Given the description of an element on the screen output the (x, y) to click on. 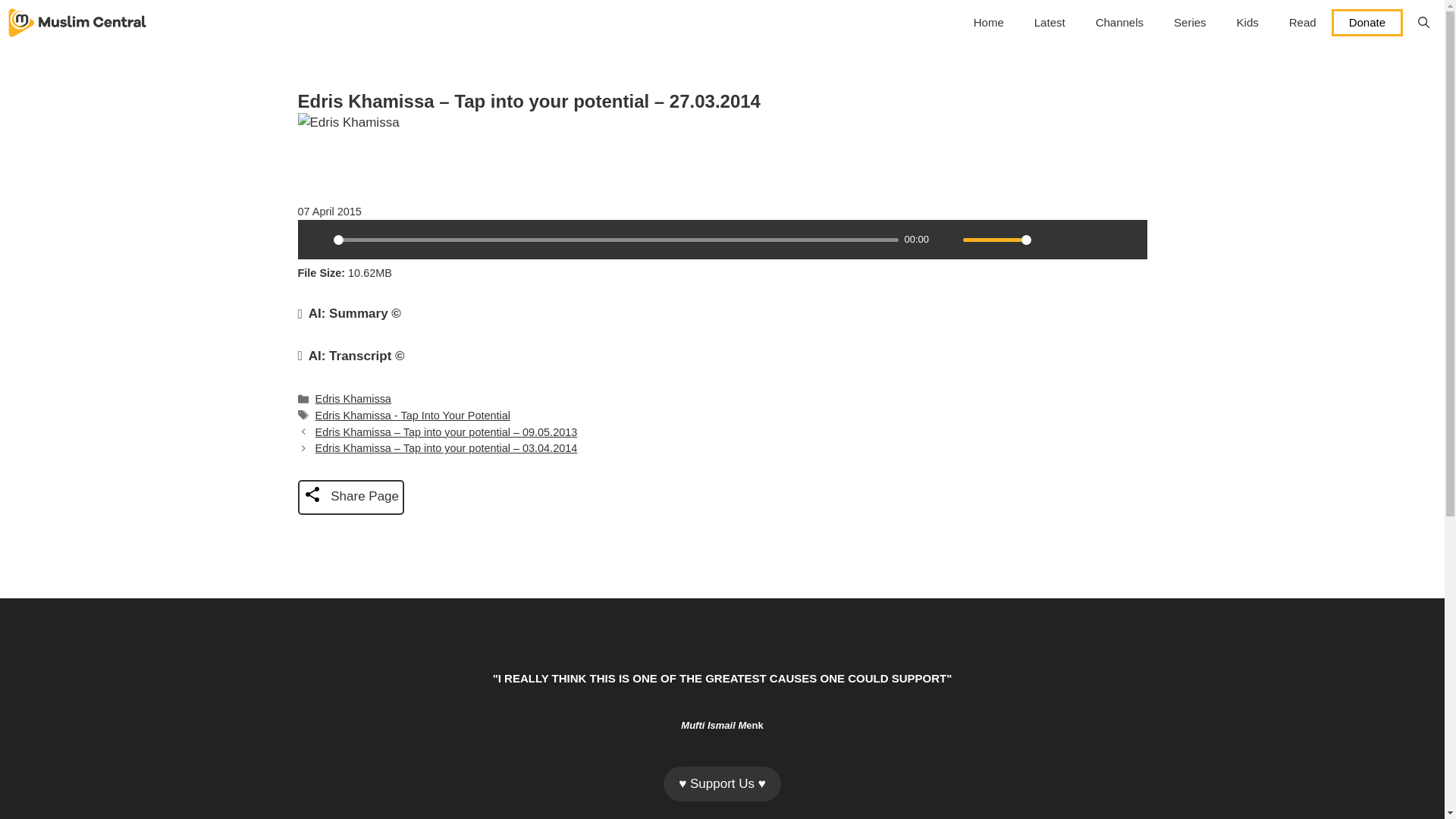
Donate (1367, 22)
Home (988, 22)
Latest (1049, 22)
Series (1189, 22)
1 (996, 239)
Forward 10s (1126, 239)
Read (1303, 22)
Muslim Central (77, 22)
Edris Khamissa (353, 398)
Play (316, 239)
